Given the description of an element on the screen output the (x, y) to click on. 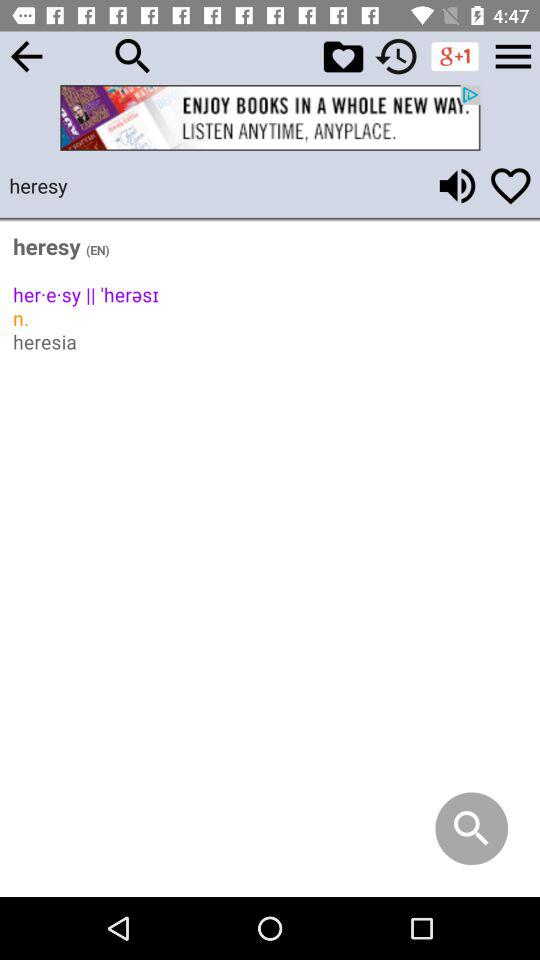
go to settings (513, 56)
